Given the description of an element on the screen output the (x, y) to click on. 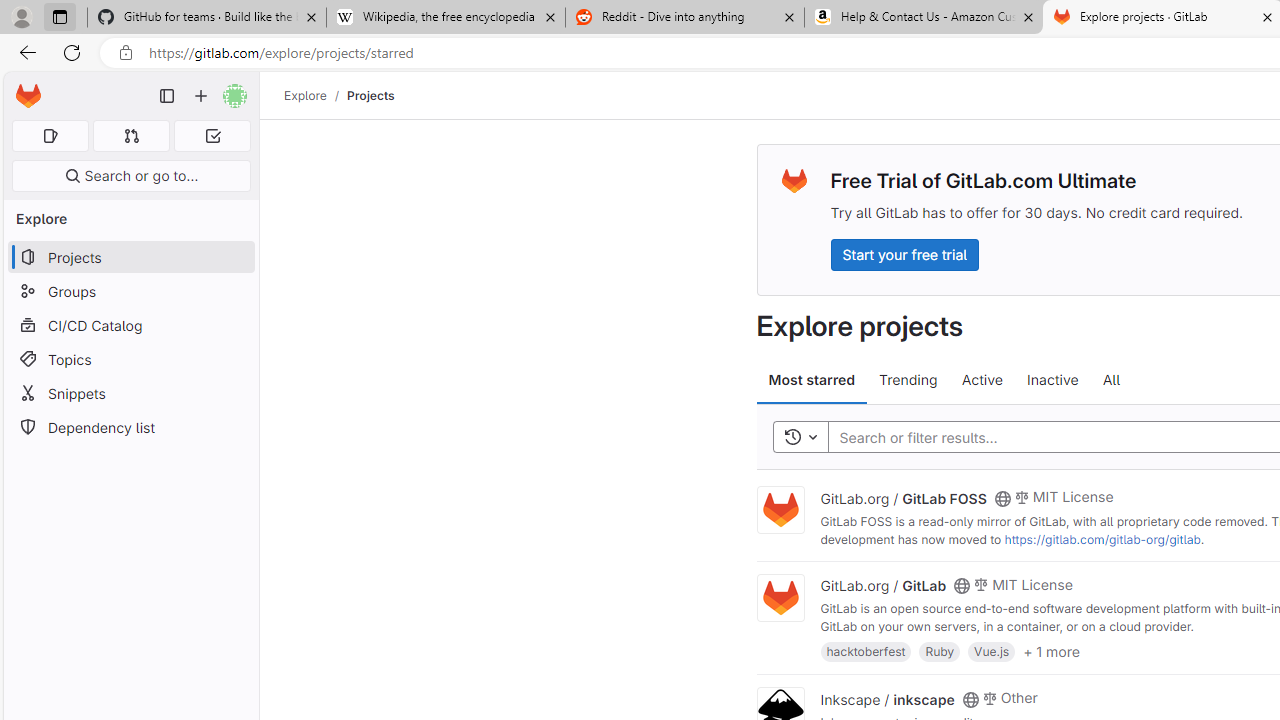
Toggle history (800, 437)
To-Do list 0 (212, 136)
Class: project (780, 597)
Explore (305, 95)
Merge requests 0 (131, 136)
Dependency list (130, 427)
Topics (130, 358)
https://gitlab.com/gitlab-org/gitlab (1101, 539)
Snippets (130, 393)
Trending (907, 379)
Wikipedia, the free encyclopedia (445, 17)
Create new... (201, 96)
